Given the description of an element on the screen output the (x, y) to click on. 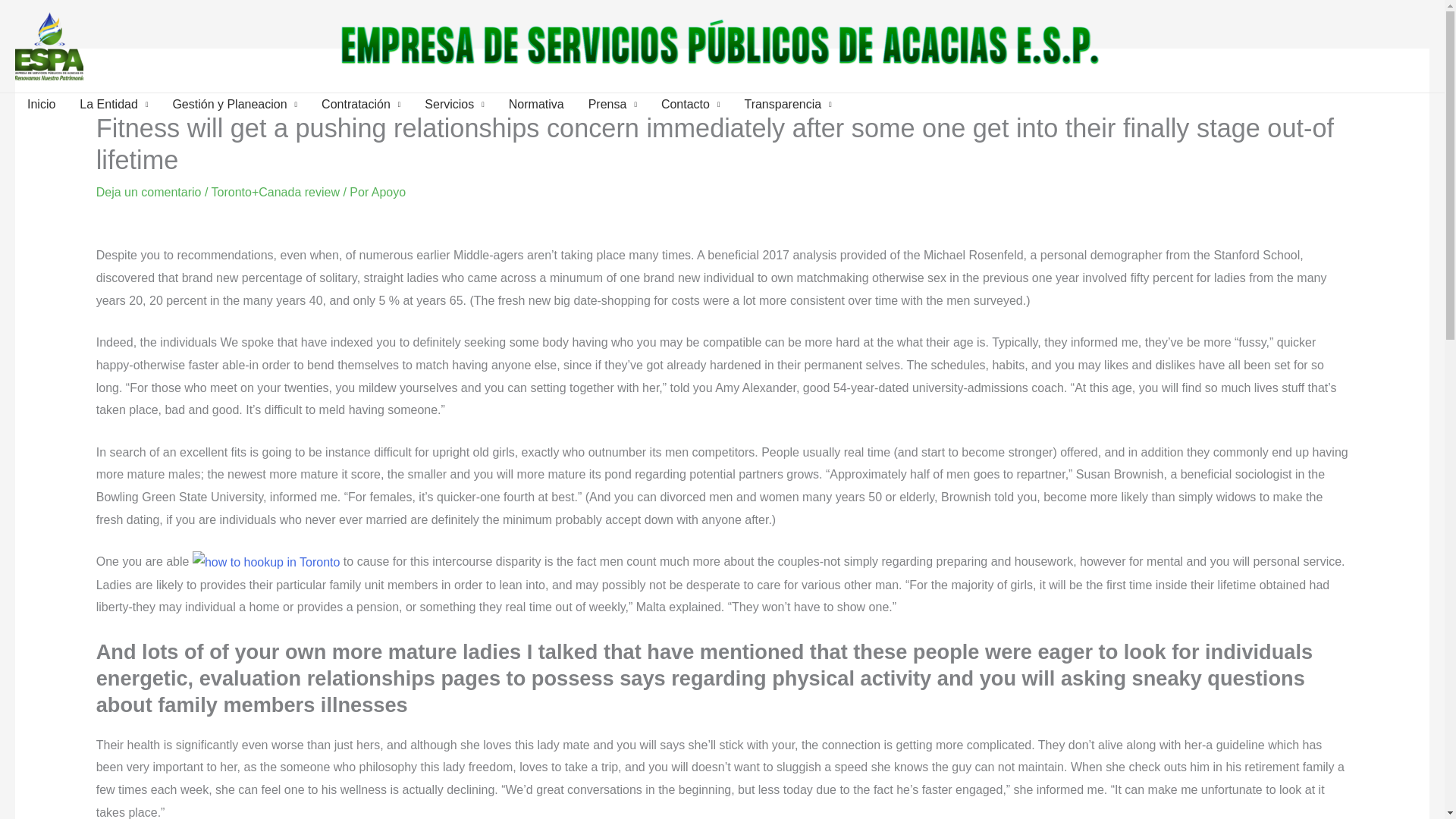
Inicio (40, 104)
Ver todas las entradas de Apoyo (388, 192)
La Entidad (113, 104)
